Given the description of an element on the screen output the (x, y) to click on. 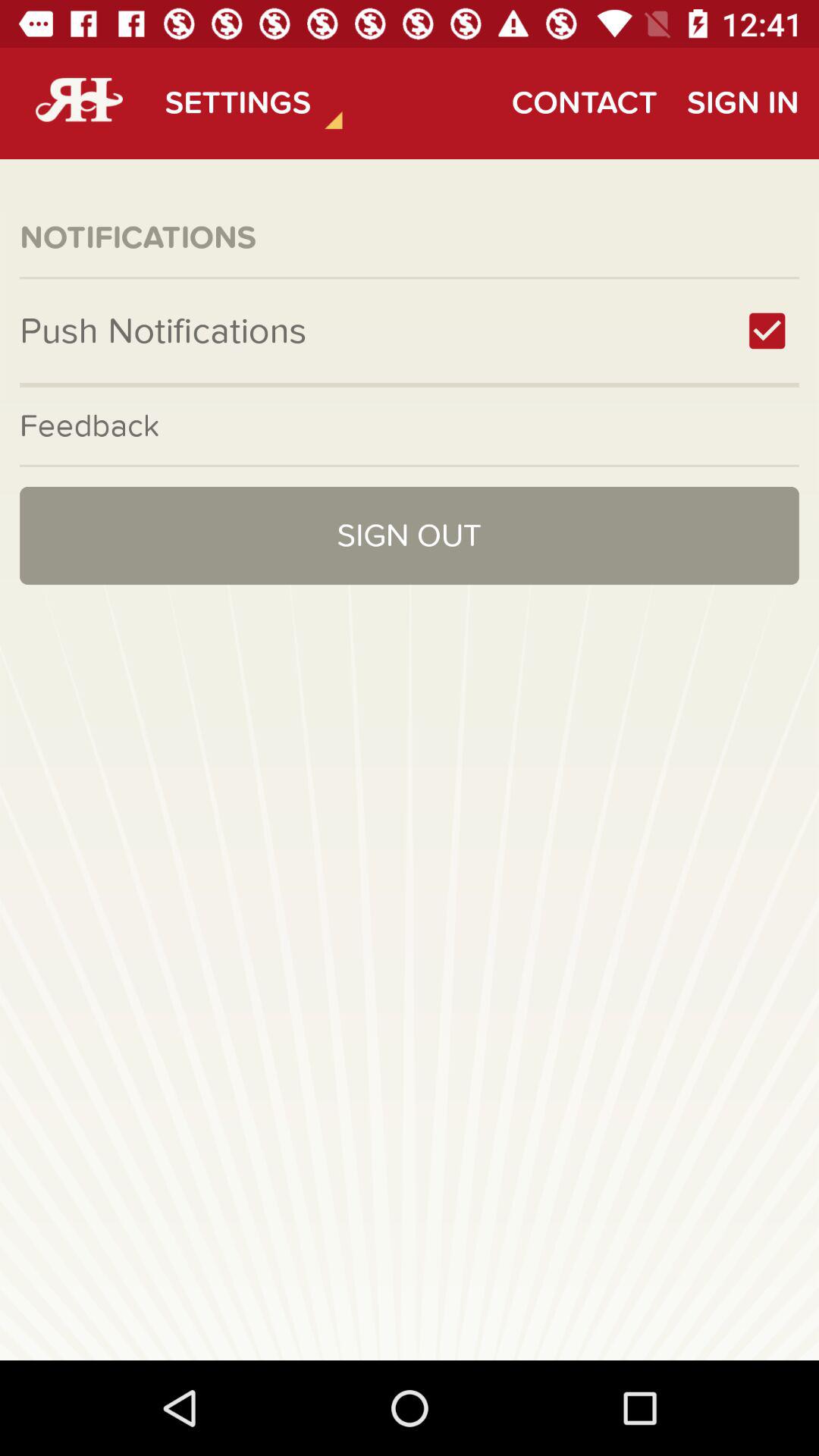
uncheck push notification (767, 330)
